Given the description of an element on the screen output the (x, y) to click on. 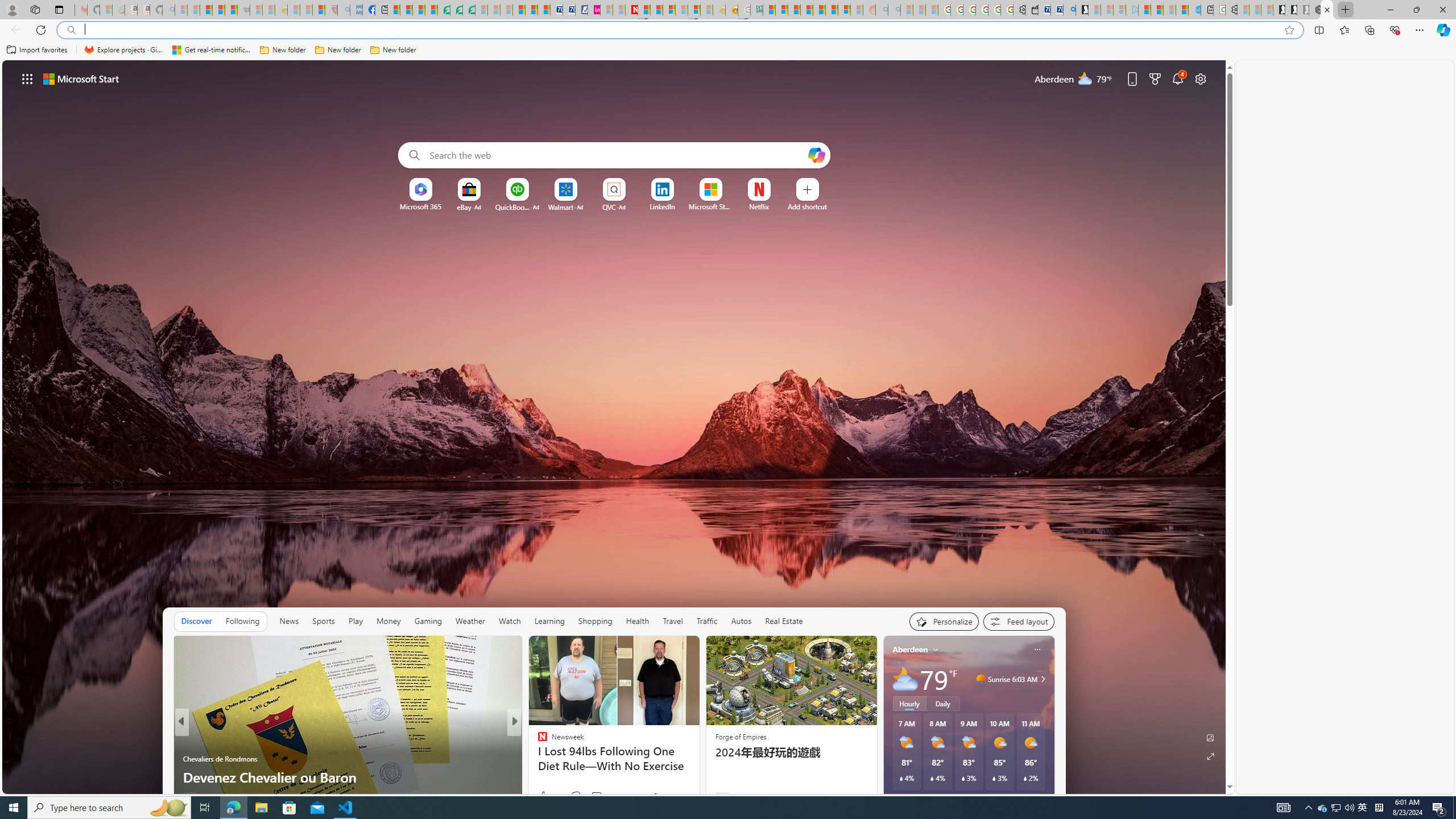
View comments 95 Comment (595, 795)
Class: weather-current-precipitation-glyph (1024, 778)
App launcher (27, 78)
Home | Sky Blue Bikes - Sky Blue Bikes (1194, 9)
Real Estate (783, 621)
Cheap Car Rentals - Save70.com (1056, 9)
View comments 3 Comment (589, 797)
Like (538, 796)
Local - MSN (318, 9)
22 Like (543, 796)
Enter your search term (617, 155)
